Given the description of an element on the screen output the (x, y) to click on. 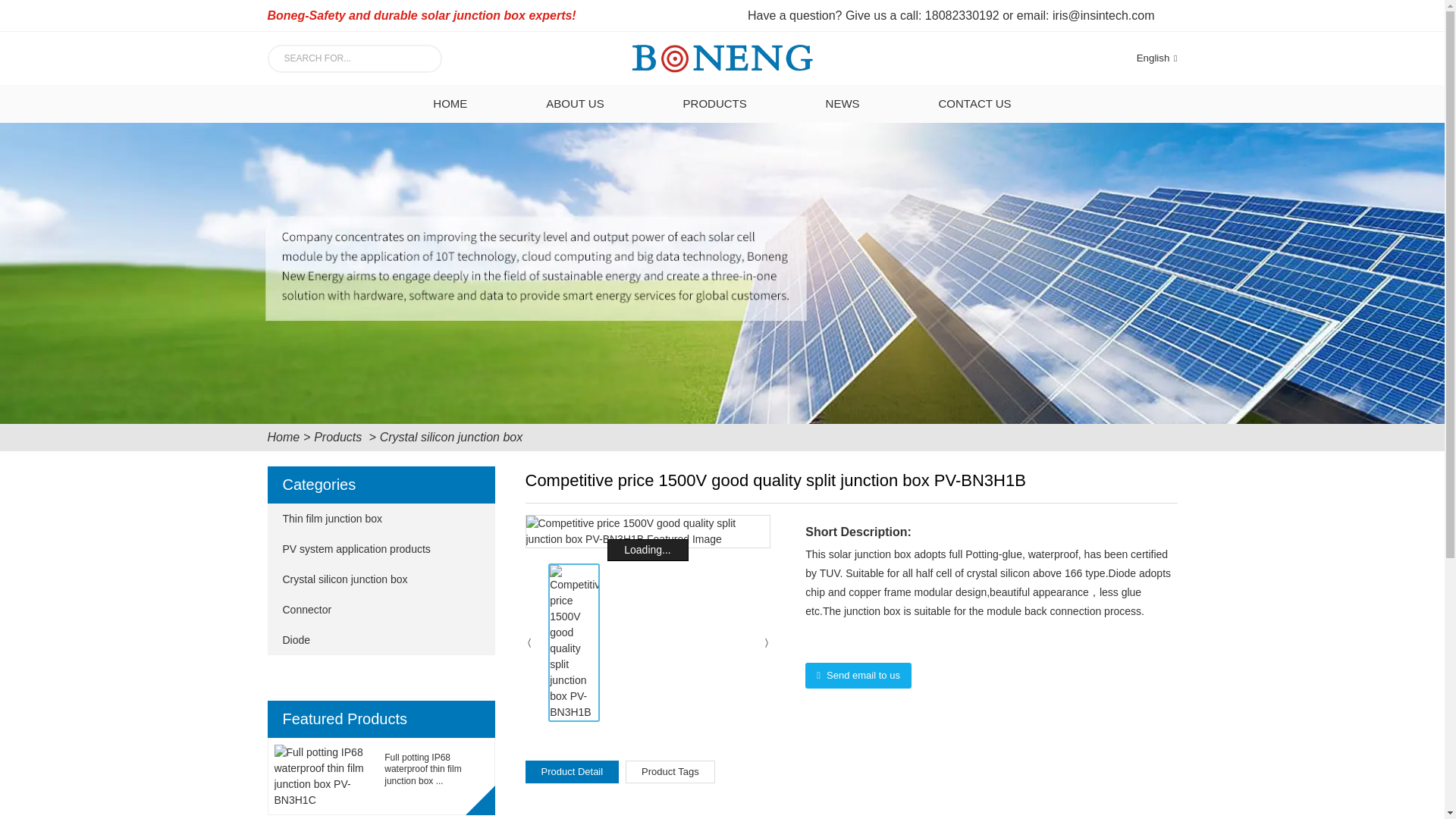
Home (282, 436)
HOME (449, 103)
NEWS (842, 103)
Crystal silicon junction box (365, 579)
ABOUT US (575, 103)
Thin film junction box (365, 518)
PRODUCTS (714, 103)
Crystal silicon junction box (451, 436)
Connector (365, 609)
18082330192 (961, 15)
